Given the description of an element on the screen output the (x, y) to click on. 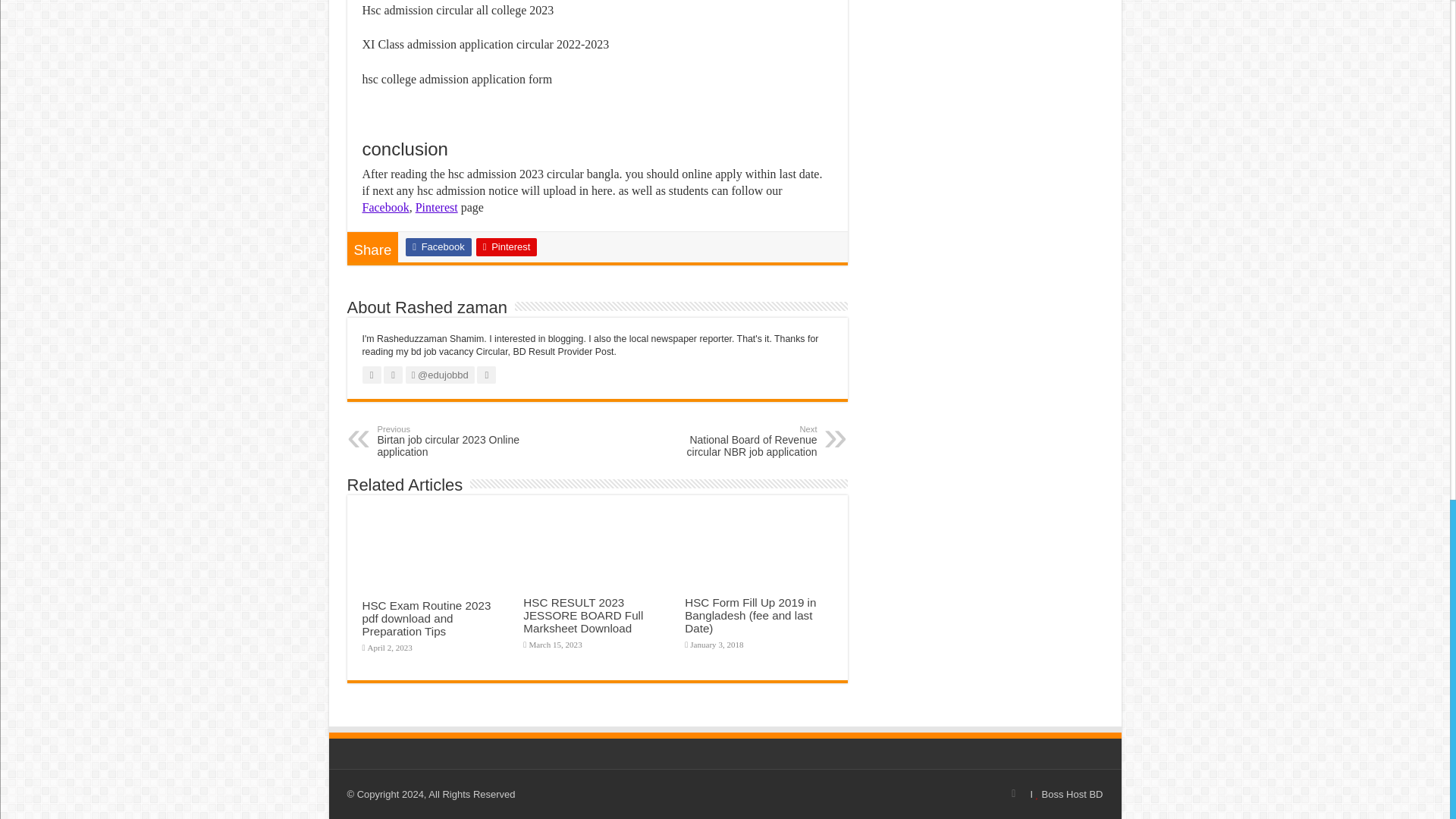
Pinterest (436, 206)
Facebook (385, 206)
Pinterest (506, 247)
Facebook (438, 247)
